Given the description of an element on the screen output the (x, y) to click on. 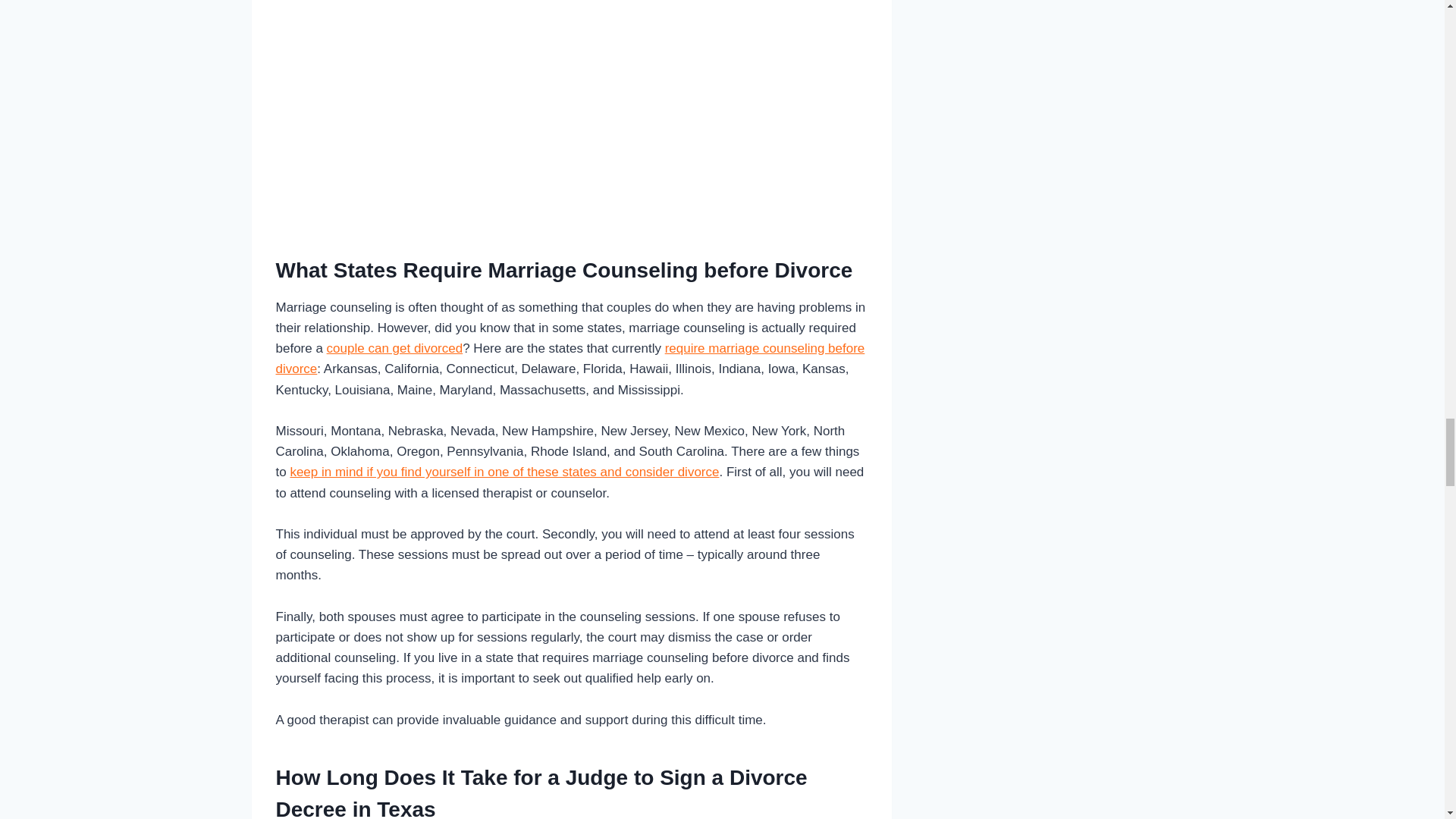
couple can get divorced (394, 348)
require marriage counseling before divorce (570, 358)
